Given the description of an element on the screen output the (x, y) to click on. 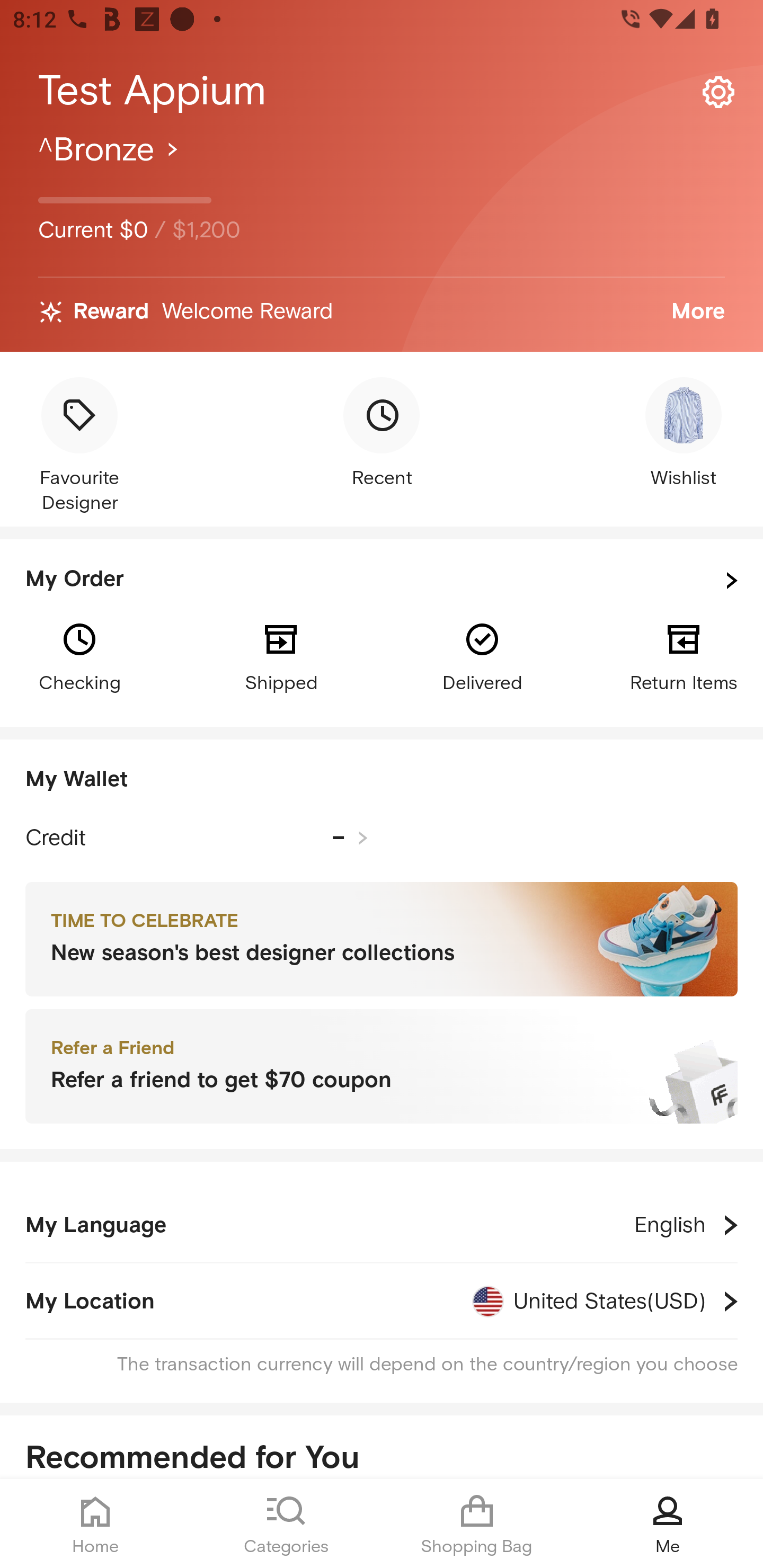
Test Appium (381, 91)
Current $0 / $1,200 Reward Welcome Reward More (381, 240)
Reward Welcome Reward More (381, 311)
Favourite Designer (79, 446)
Recent (381, 433)
Wishlist (683, 433)
My Order (381, 580)
Checking (79, 656)
Shipped (280, 656)
Delivered (482, 656)
Return Items (683, 656)
My Wallet (381, 779)
Credit - (196, 837)
Refer a Friend Refer a friend to get $70 coupon (381, 1066)
My Language English (381, 1224)
My Location United States(USD) (381, 1301)
Home (95, 1523)
Categories (285, 1523)
Shopping Bag (476, 1523)
